Given the description of an element on the screen output the (x, y) to click on. 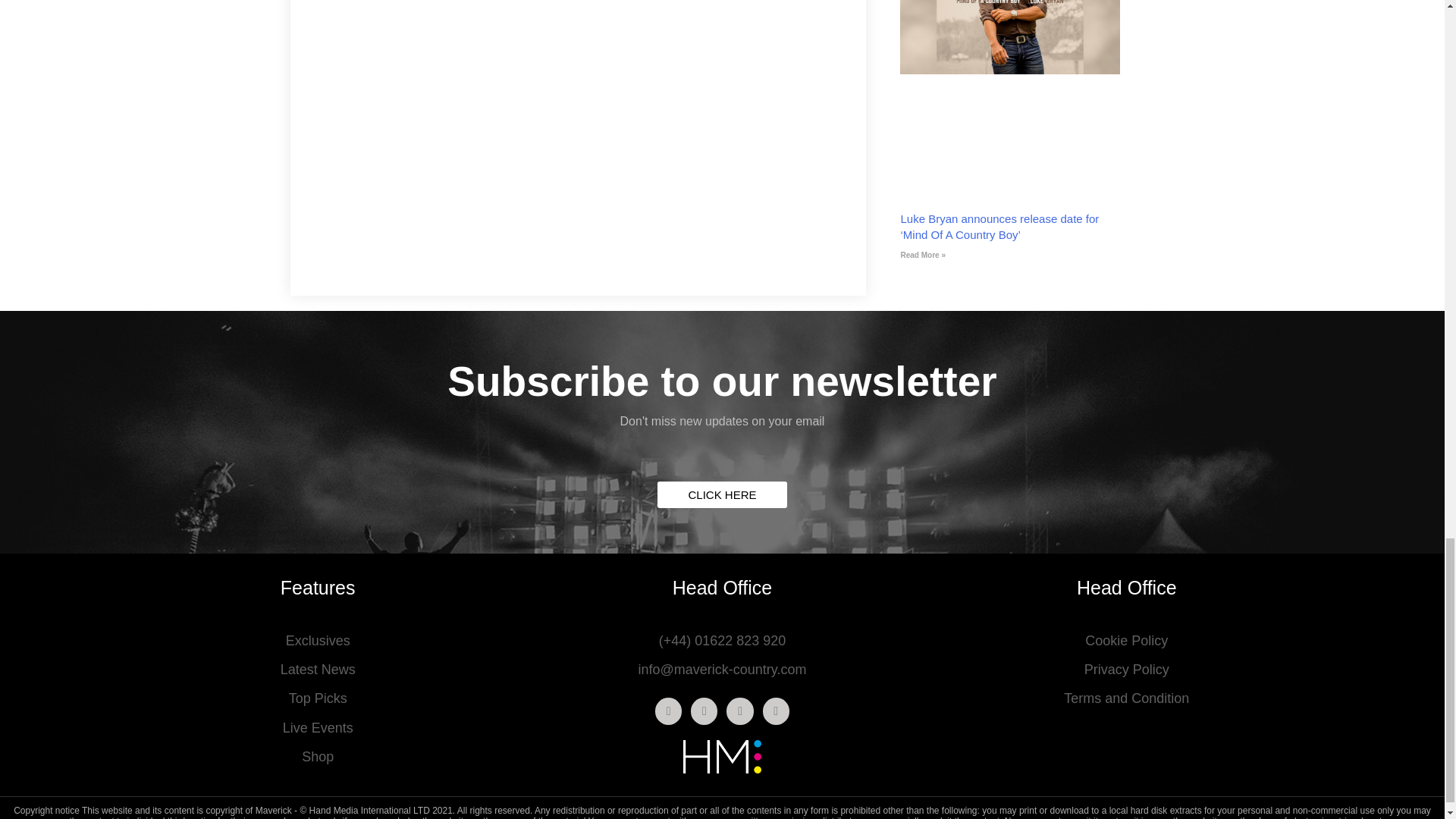
Latest News (317, 669)
CLICK HERE (722, 494)
Exclusives (317, 640)
